Given the description of an element on the screen output the (x, y) to click on. 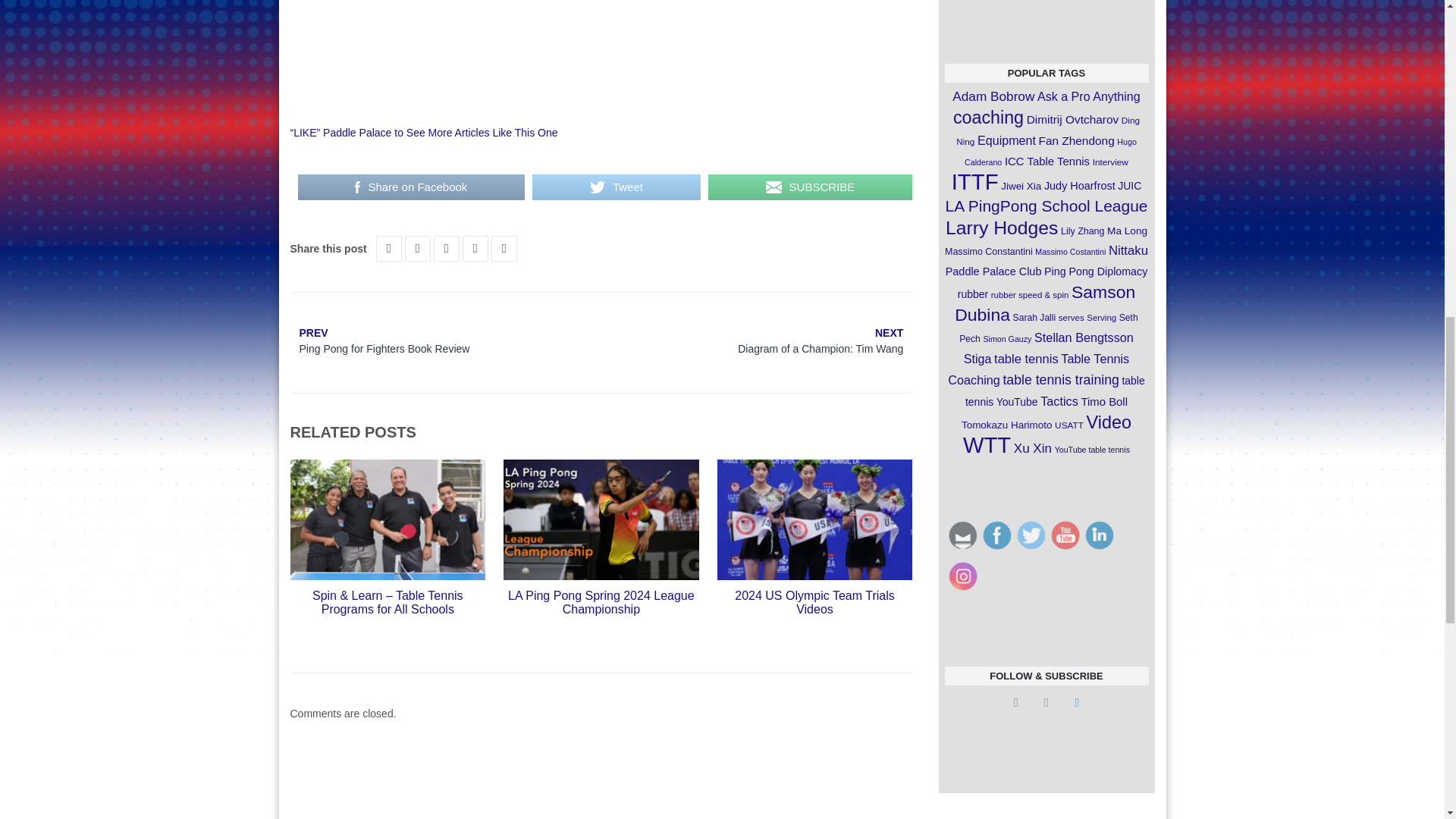
Follow by Email (962, 535)
SUBSCRIBE (809, 186)
LinkedIn (444, 342)
Facebook (1099, 535)
YouTube (996, 535)
Instagram (1064, 535)
Tweet (962, 576)
Twitter (616, 186)
Share on Facebook (1031, 535)
